Given the description of an element on the screen output the (x, y) to click on. 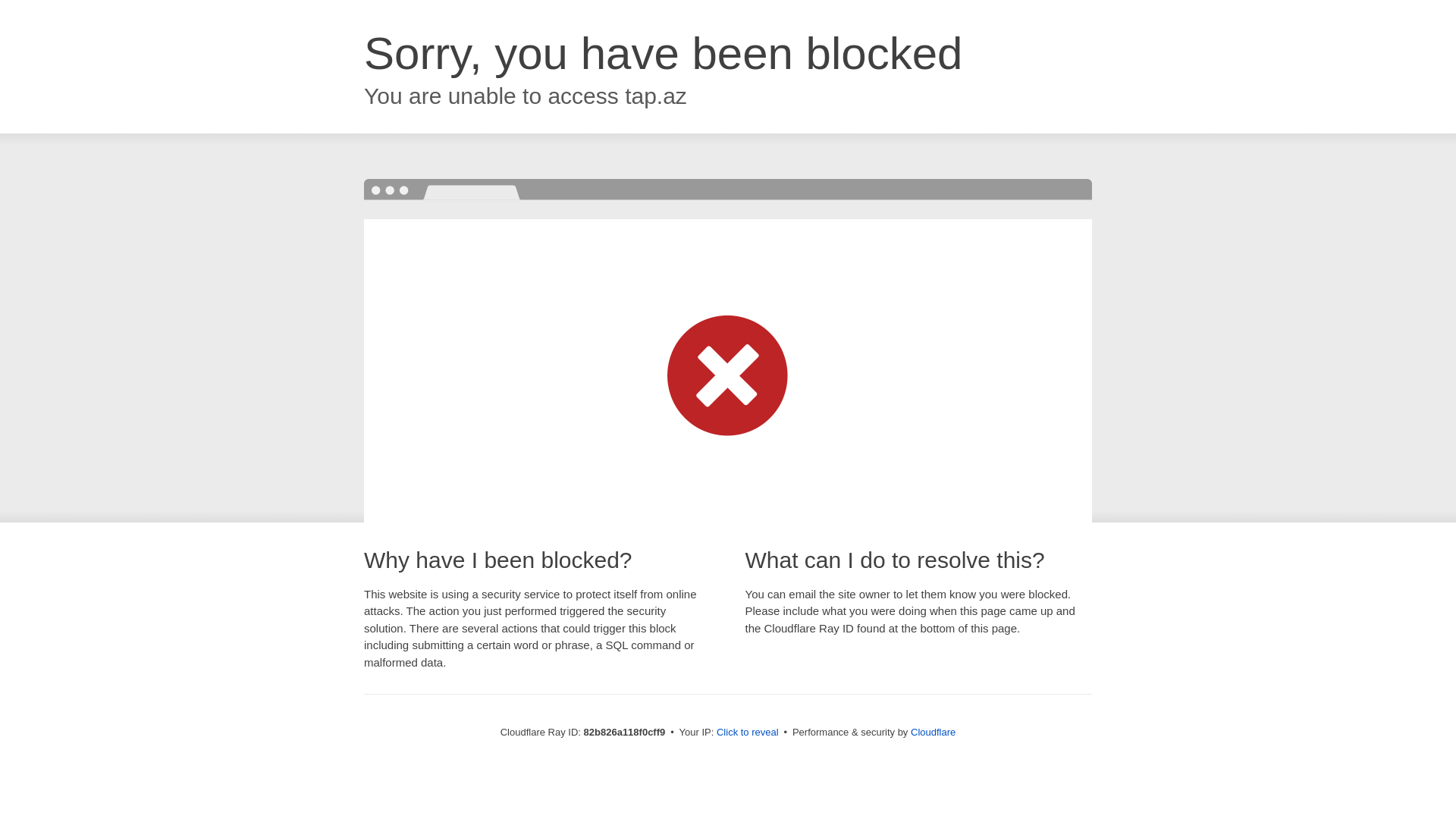
Click to reveal Element type: text (747, 732)
Cloudflare Element type: text (932, 731)
